Given the description of an element on the screen output the (x, y) to click on. 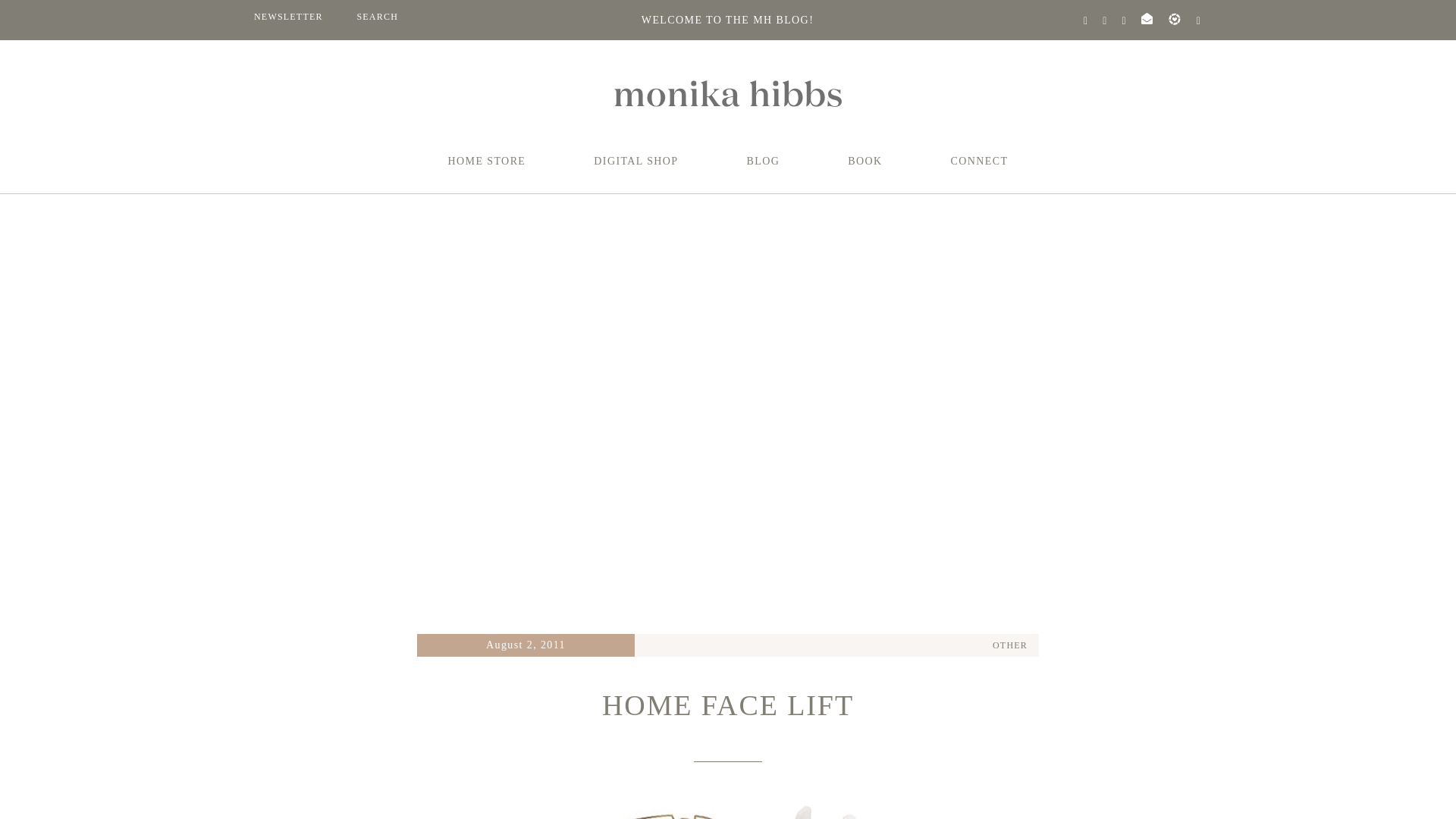
WELCOME TO THE MH BLOG! (727, 20)
DIGITAL SHOP (635, 166)
SEARCH (376, 19)
newhome (727, 804)
NEWSLETTER (288, 19)
HOME STORE (486, 166)
